Given the description of an element on the screen output the (x, y) to click on. 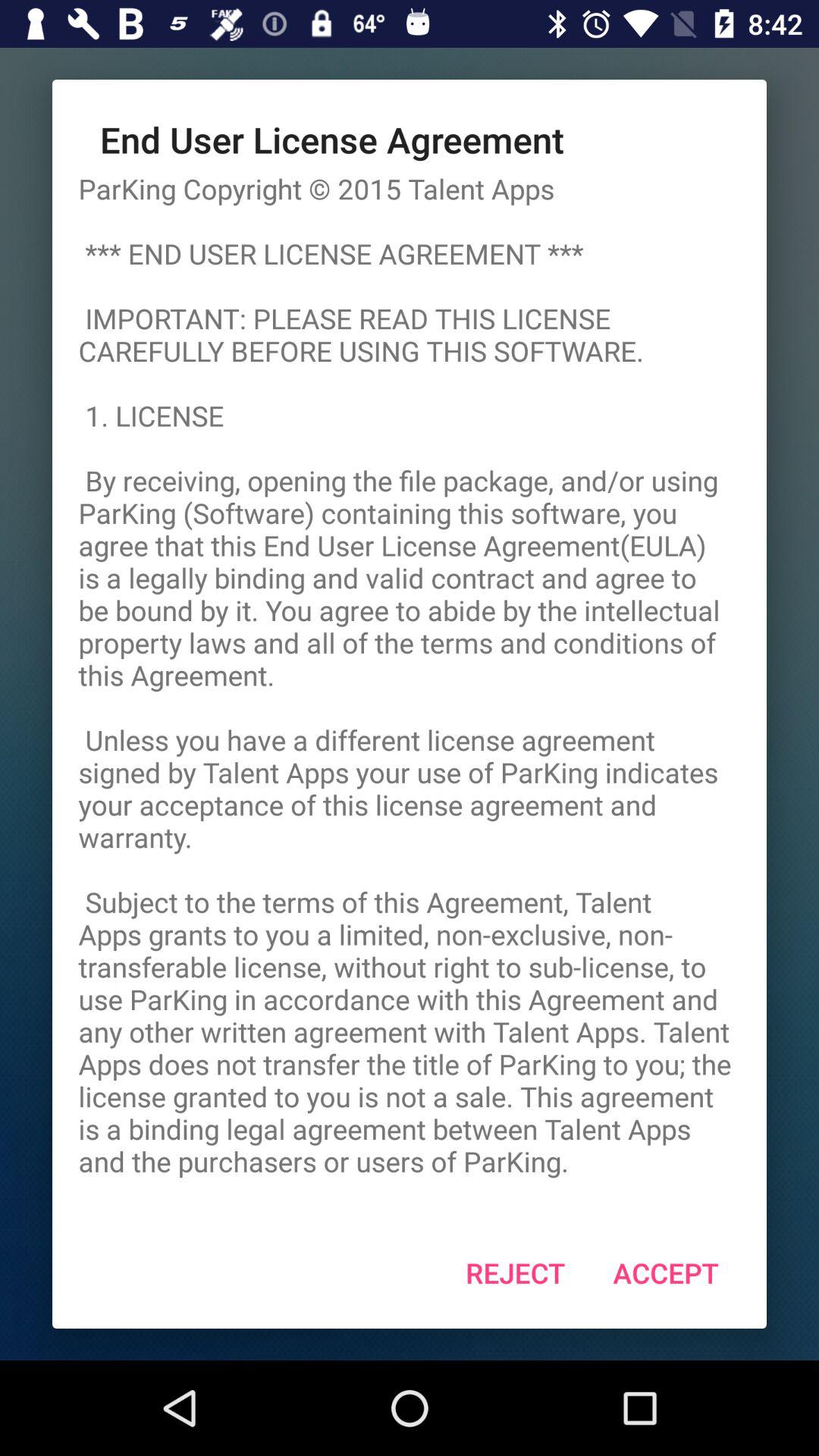
jump to the reject (515, 1272)
